Given the description of an element on the screen output the (x, y) to click on. 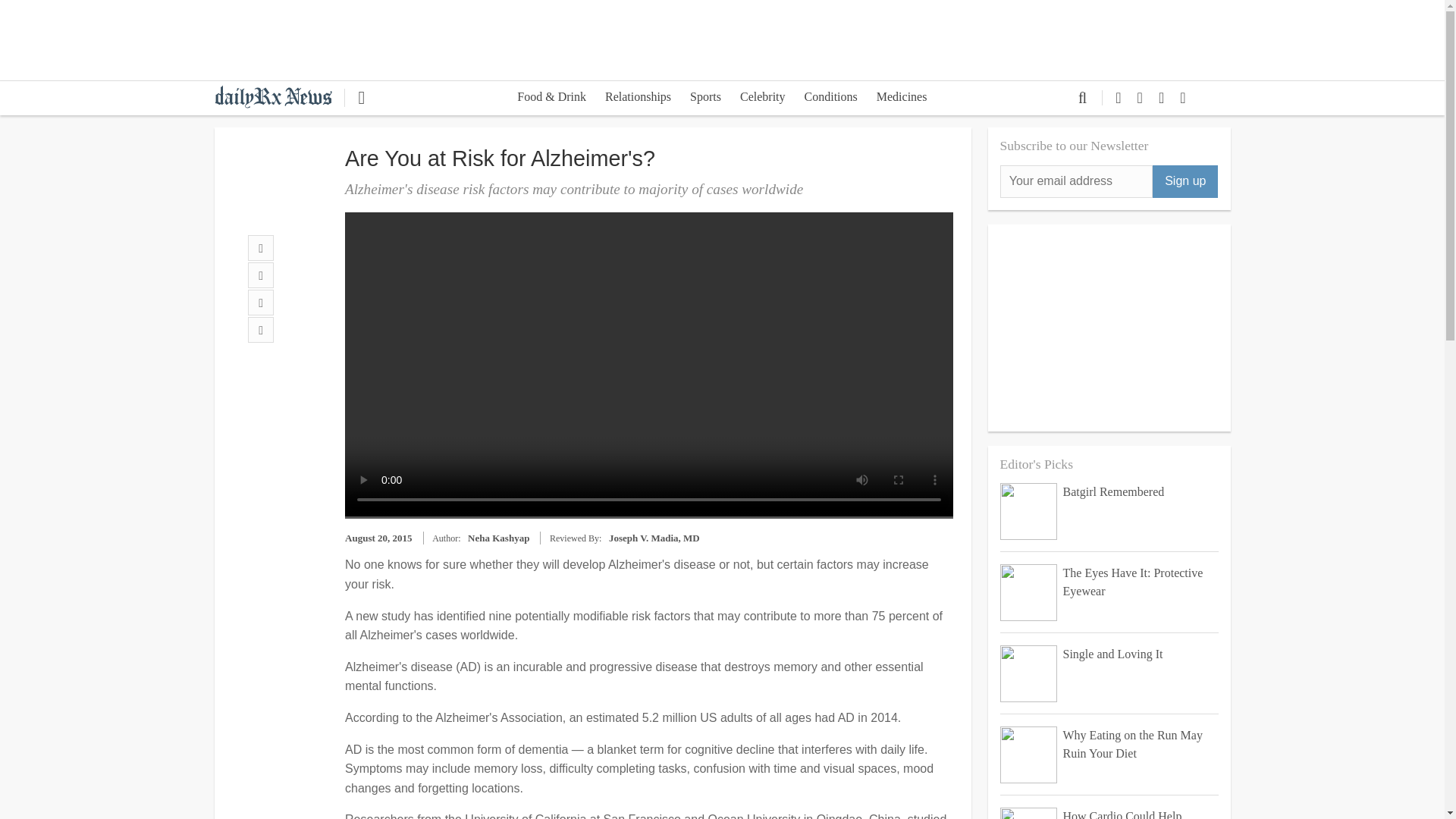
Sports (705, 98)
Celebrity (762, 98)
Conditions (830, 98)
Relationships (637, 98)
Home (278, 96)
Neha Kashyap (498, 537)
August 20, 2015 (378, 537)
Sign up (1185, 181)
